Given the description of an element on the screen output the (x, y) to click on. 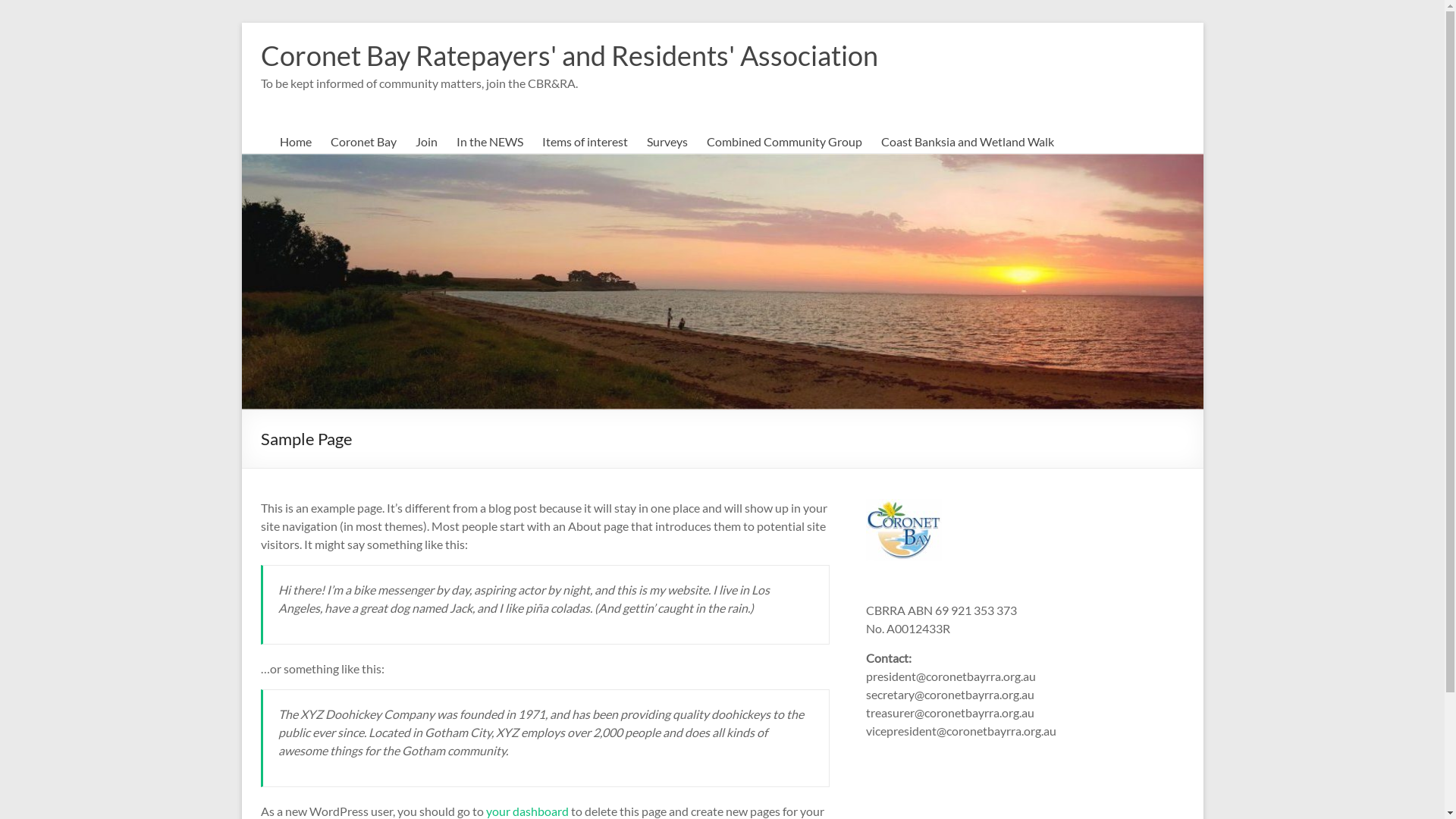
Join Element type: text (426, 141)
Combined Community Group Element type: text (784, 141)
Coronet Bay Ratepayers' and Residents' Association Element type: text (569, 55)
Surveys Element type: text (666, 141)
Coronet Bay Element type: text (363, 141)
Coast Banksia and Wetland Walk Element type: text (967, 141)
In the NEWS Element type: text (489, 141)
Home Element type: text (294, 141)
Items of interest Element type: text (584, 141)
your dashboard Element type: text (526, 810)
Skip to content Element type: text (241, 21)
